Given the description of an element on the screen output the (x, y) to click on. 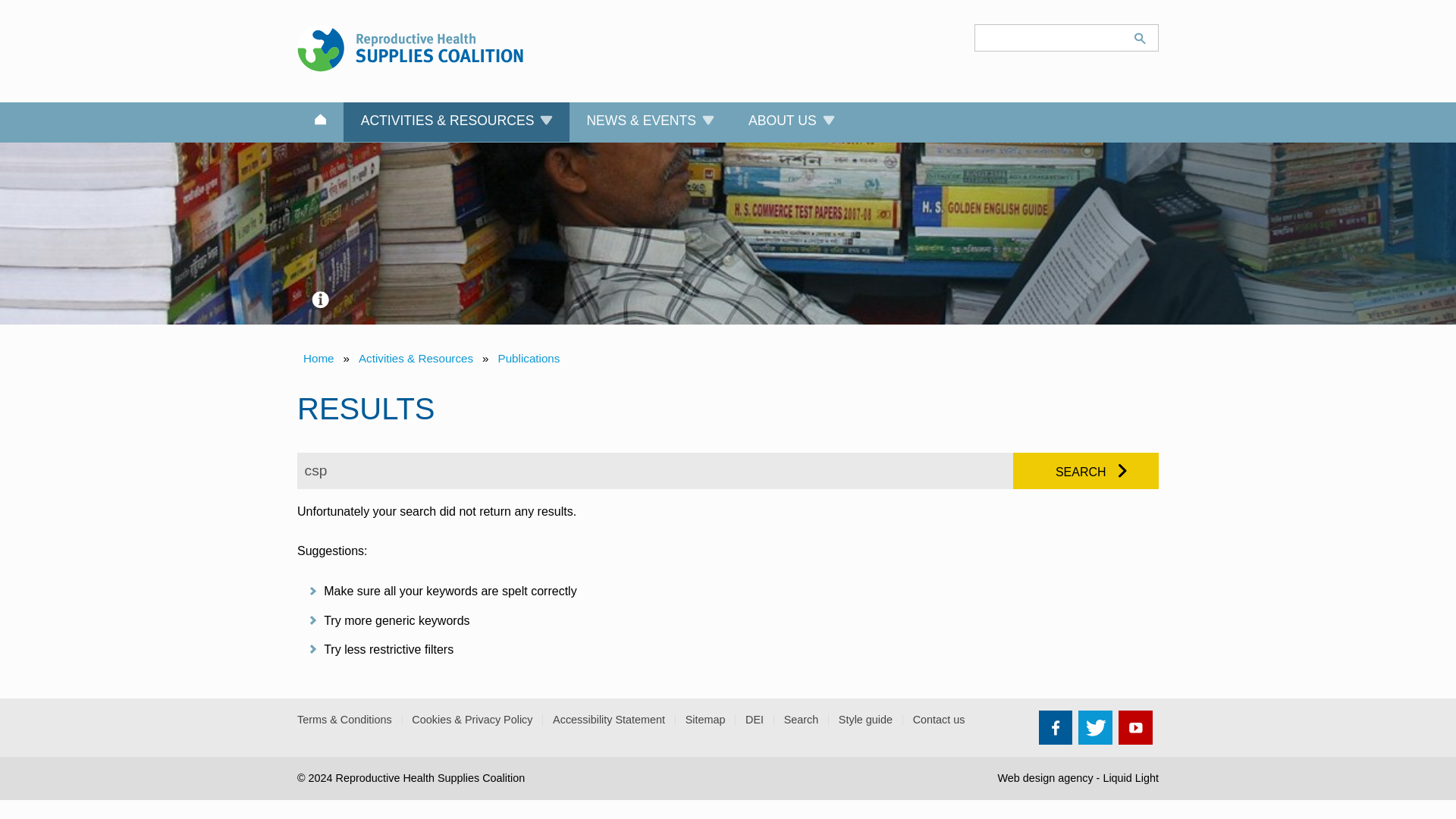
Search (1139, 36)
csp (655, 470)
Home (320, 122)
